Given the description of an element on the screen output the (x, y) to click on. 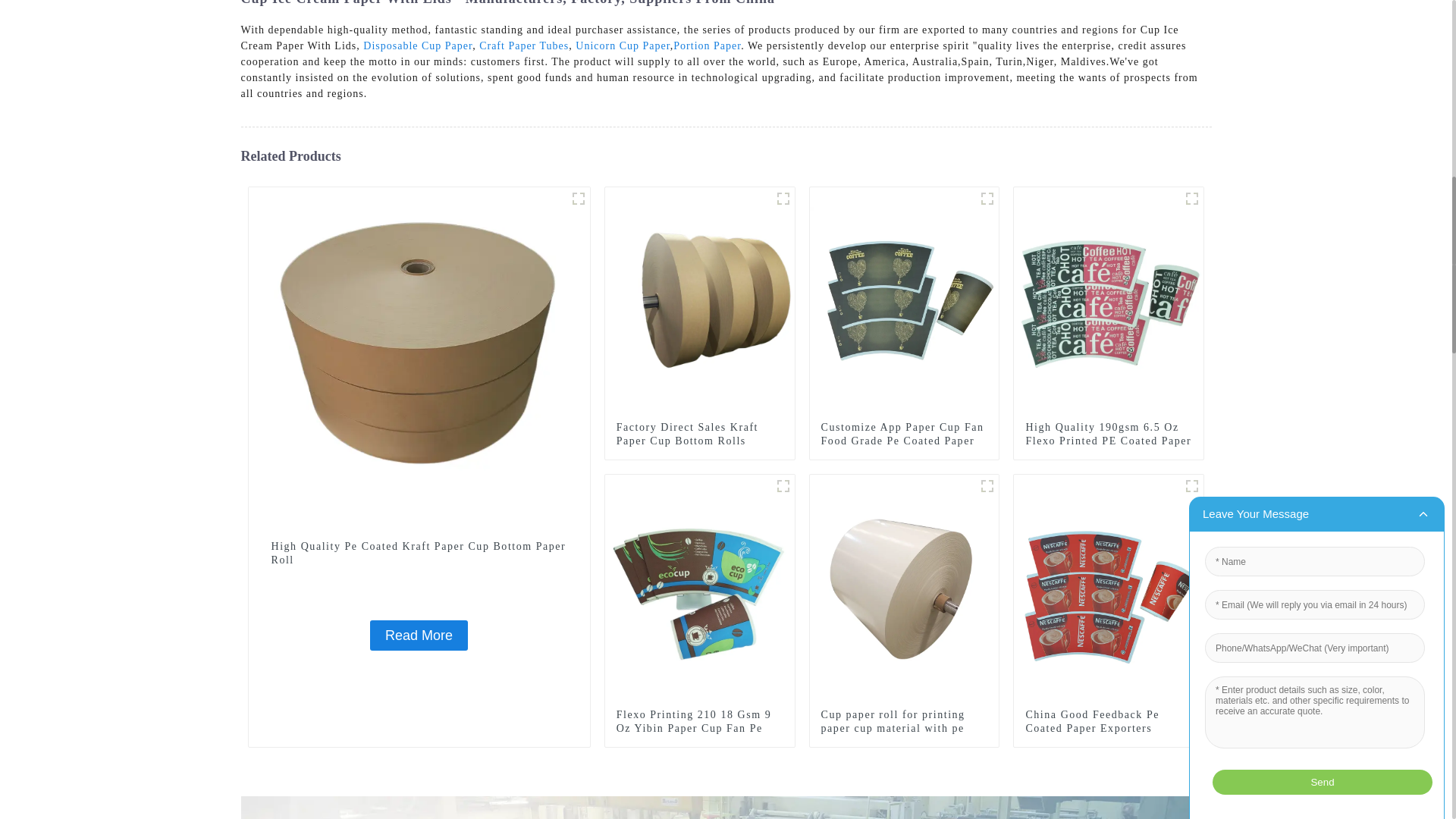
Craft Paper Tubes (524, 45)
High Quality Pe Coated Kraft Paper Cup Bottom Paper Roll (418, 634)
Portion Paper (706, 45)
Disposable Cup Paper (416, 45)
High Quality Pe Coated Kraft Paper Cup Bottom Paper Roll (418, 357)
Craft Paper Tubes (524, 45)
Unicorn Cup Paper (622, 45)
Disposable Cup Paper (416, 45)
